Given the description of an element on the screen output the (x, y) to click on. 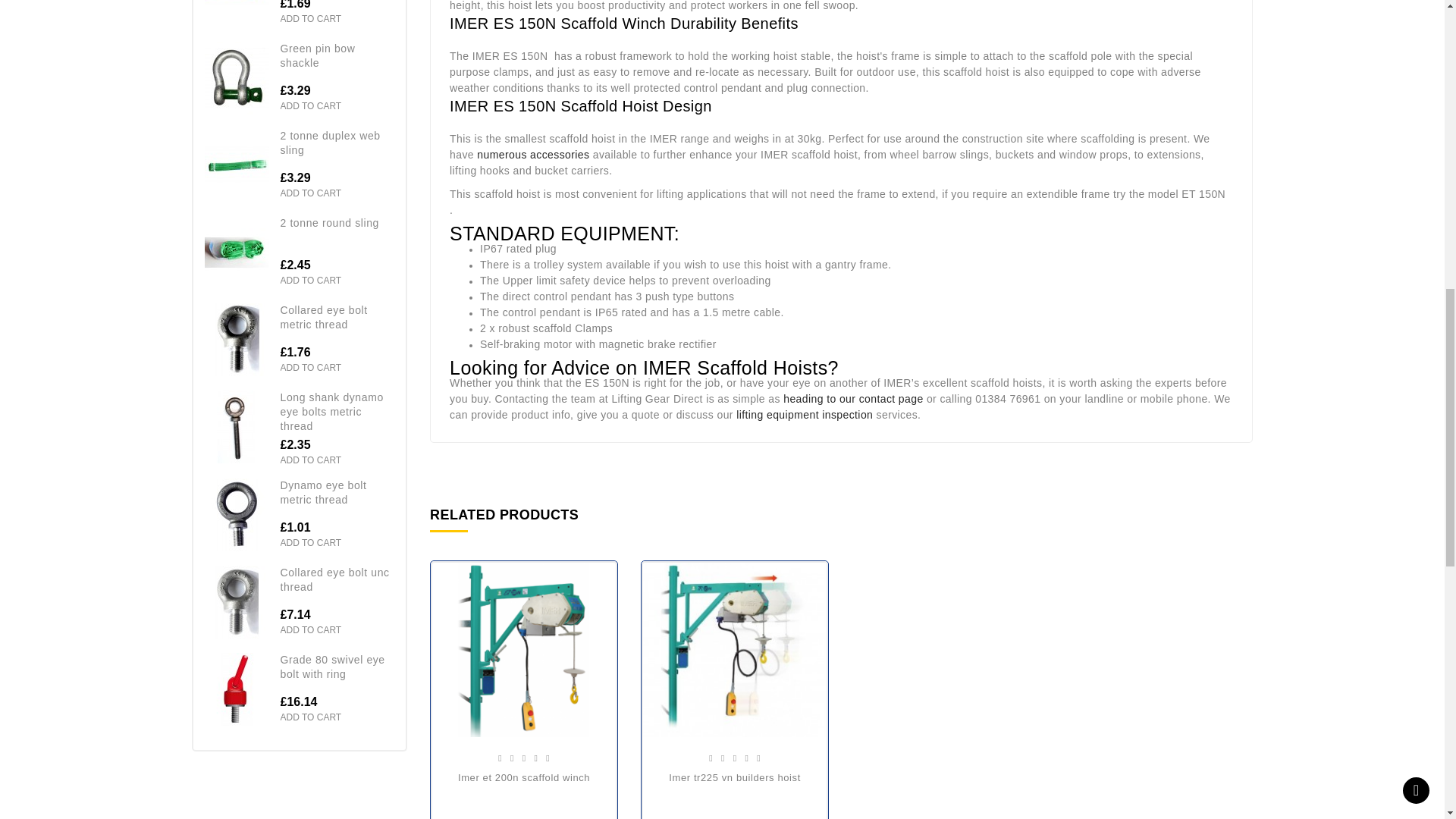
1 Tonne Round Sling (237, 13)
